Given the description of an element on the screen output the (x, y) to click on. 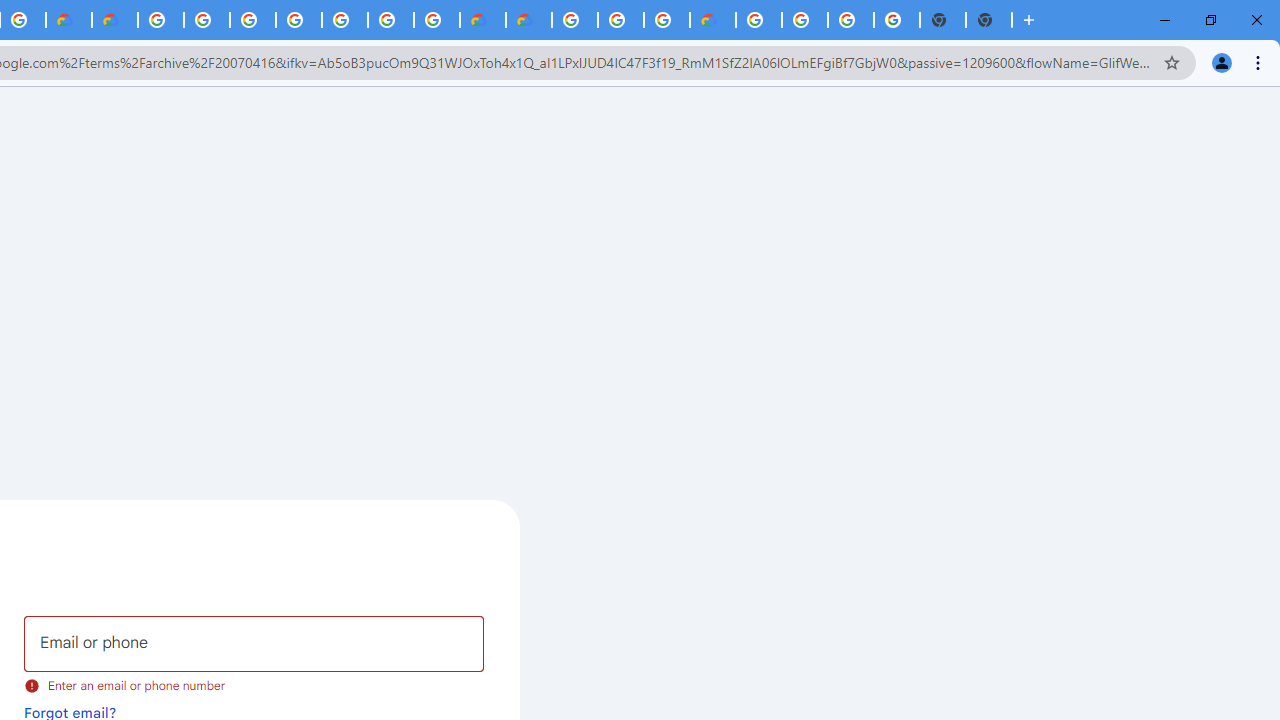
Sign in - Google Accounts (253, 20)
Customer Care | Google Cloud (482, 20)
Email or phone (253, 643)
Google Cloud Platform (390, 20)
Customer Care | Google Cloud (69, 20)
Google Cloud Platform (161, 20)
